Given the description of an element on the screen output the (x, y) to click on. 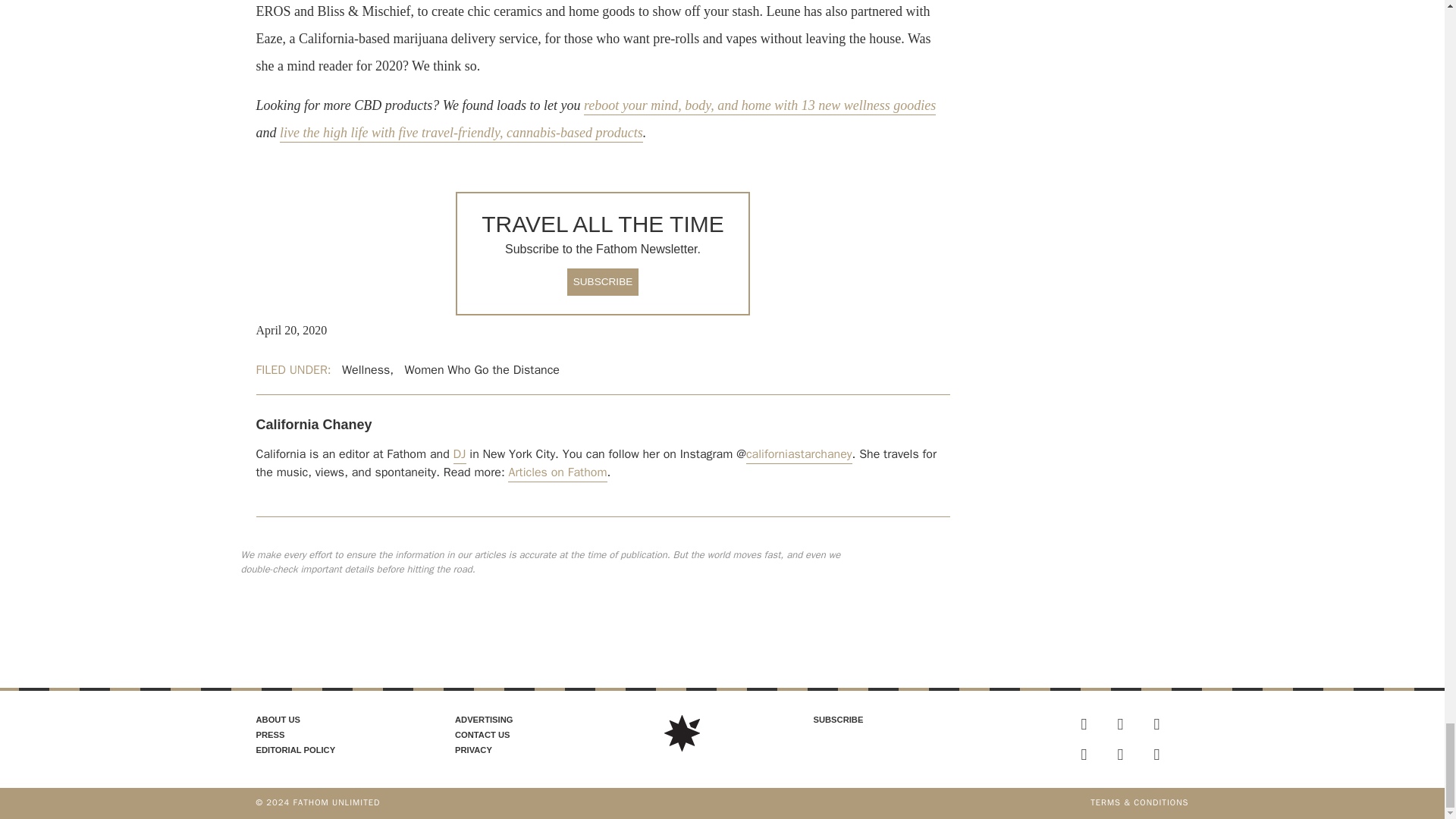
SUBSCRIBE (603, 281)
Wellness (366, 369)
Women Who Go the Distance (481, 369)
